Given the description of an element on the screen output the (x, y) to click on. 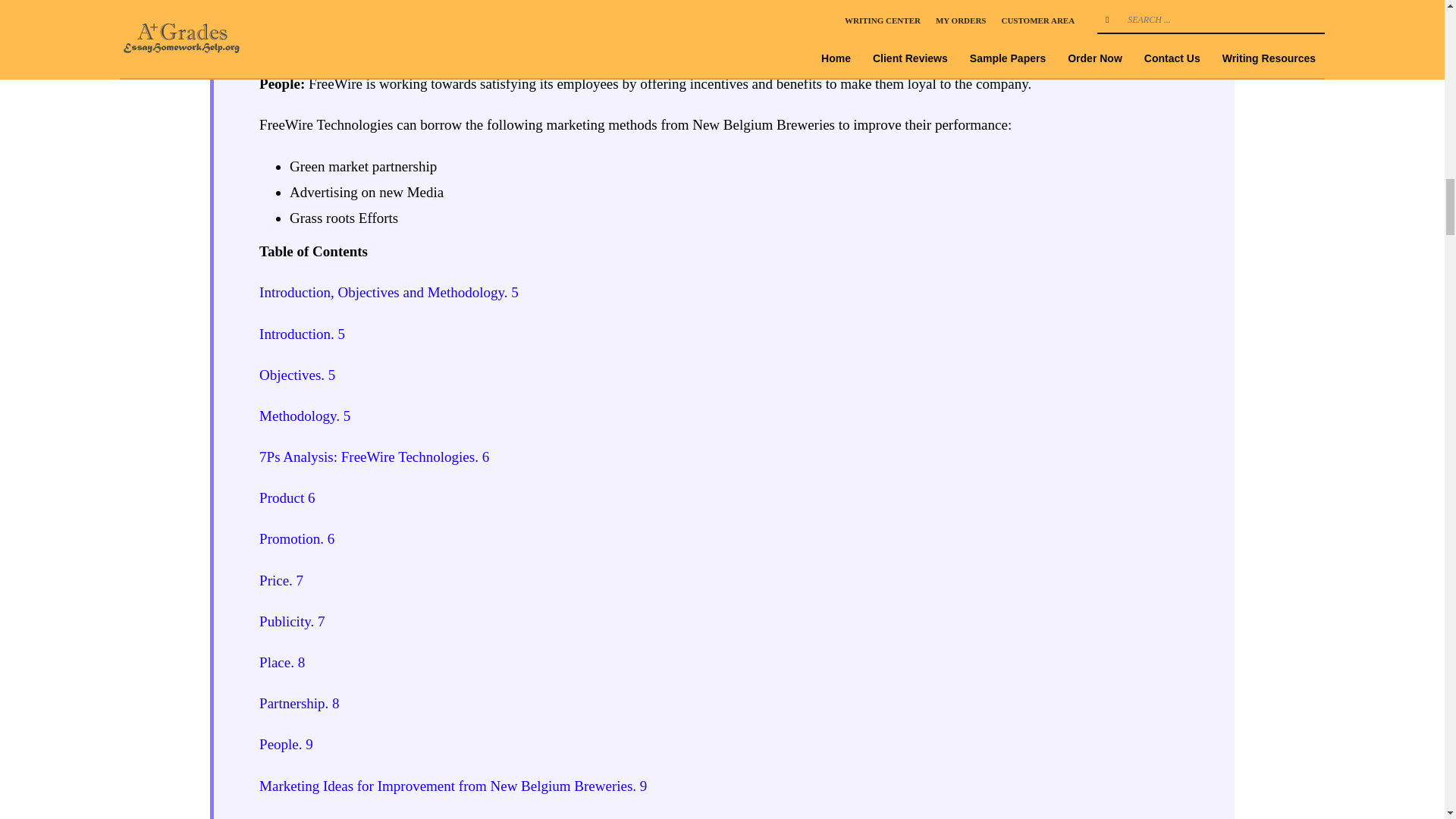
Price. 7 (280, 580)
Objectives. 5 (296, 374)
Product 6 (286, 497)
Partnership. 8 (299, 703)
7Ps Analysis: FreeWire Technologies. 6 (374, 456)
Promotion. 6 (296, 538)
Introduction, Objectives and Methodology. 5 (388, 292)
Introduction. 5 (302, 333)
Methodology. 5 (304, 415)
